Given the description of an element on the screen output the (x, y) to click on. 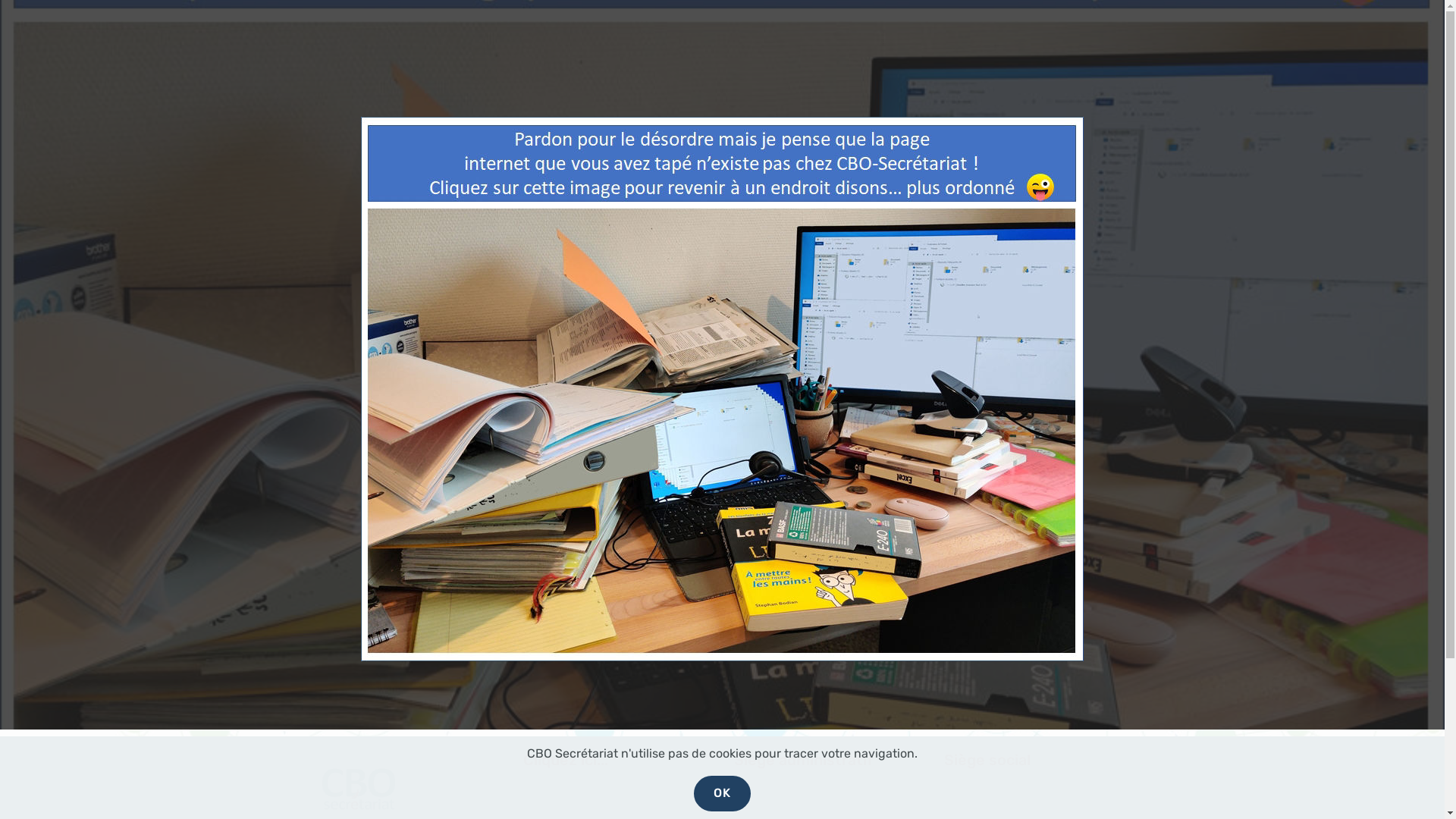
OK Element type: text (721, 793)
